Given the description of an element on the screen output the (x, y) to click on. 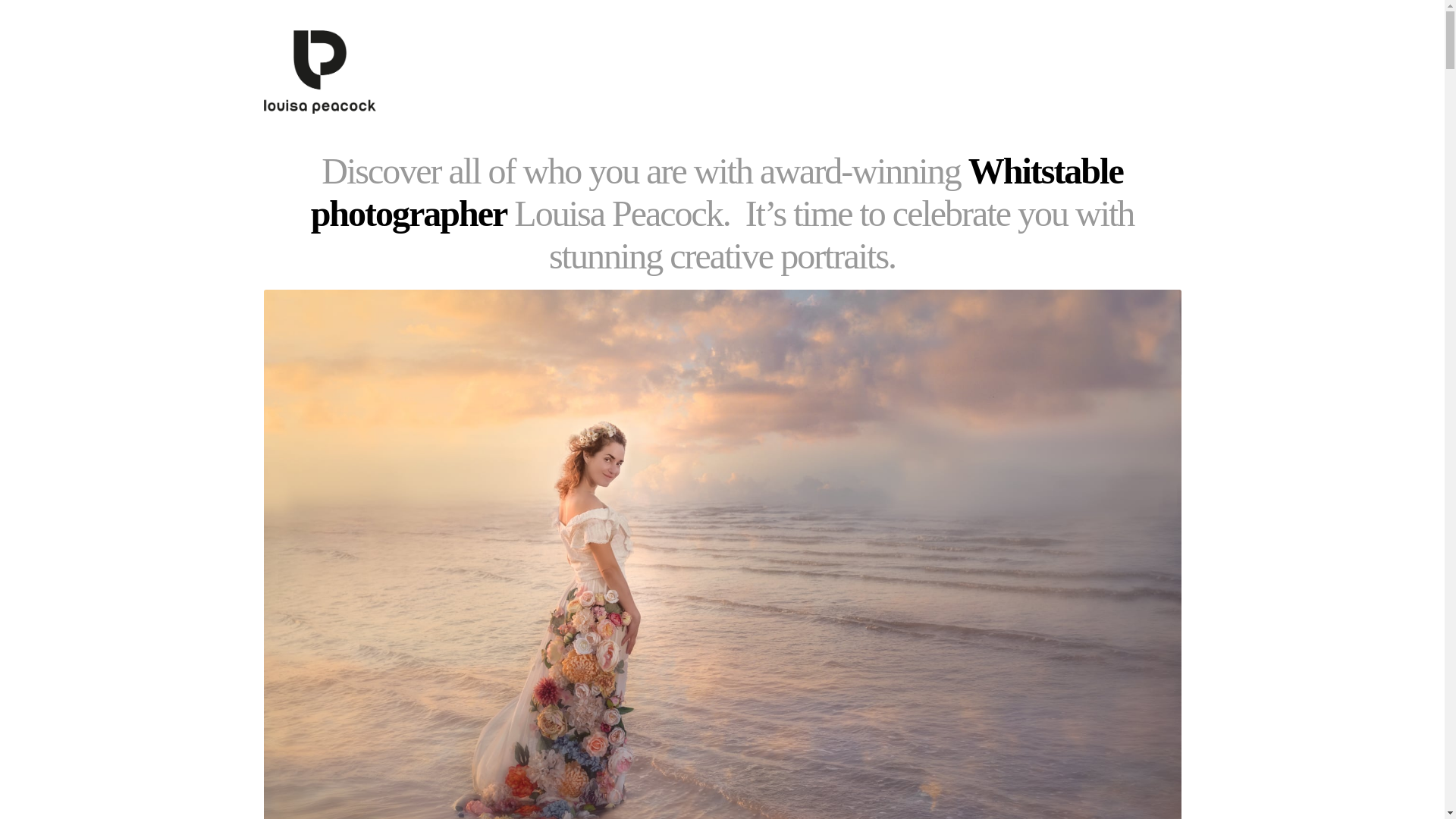
Logo of Muswell Hill baby photographer Louisa Peacock (320, 71)
CREATIVE (801, 71)
MOTHERHOOD (900, 71)
BLOG (1129, 71)
FAMILY (988, 60)
CONTACT (1062, 60)
HOME (732, 71)
